Given the description of an element on the screen output the (x, y) to click on. 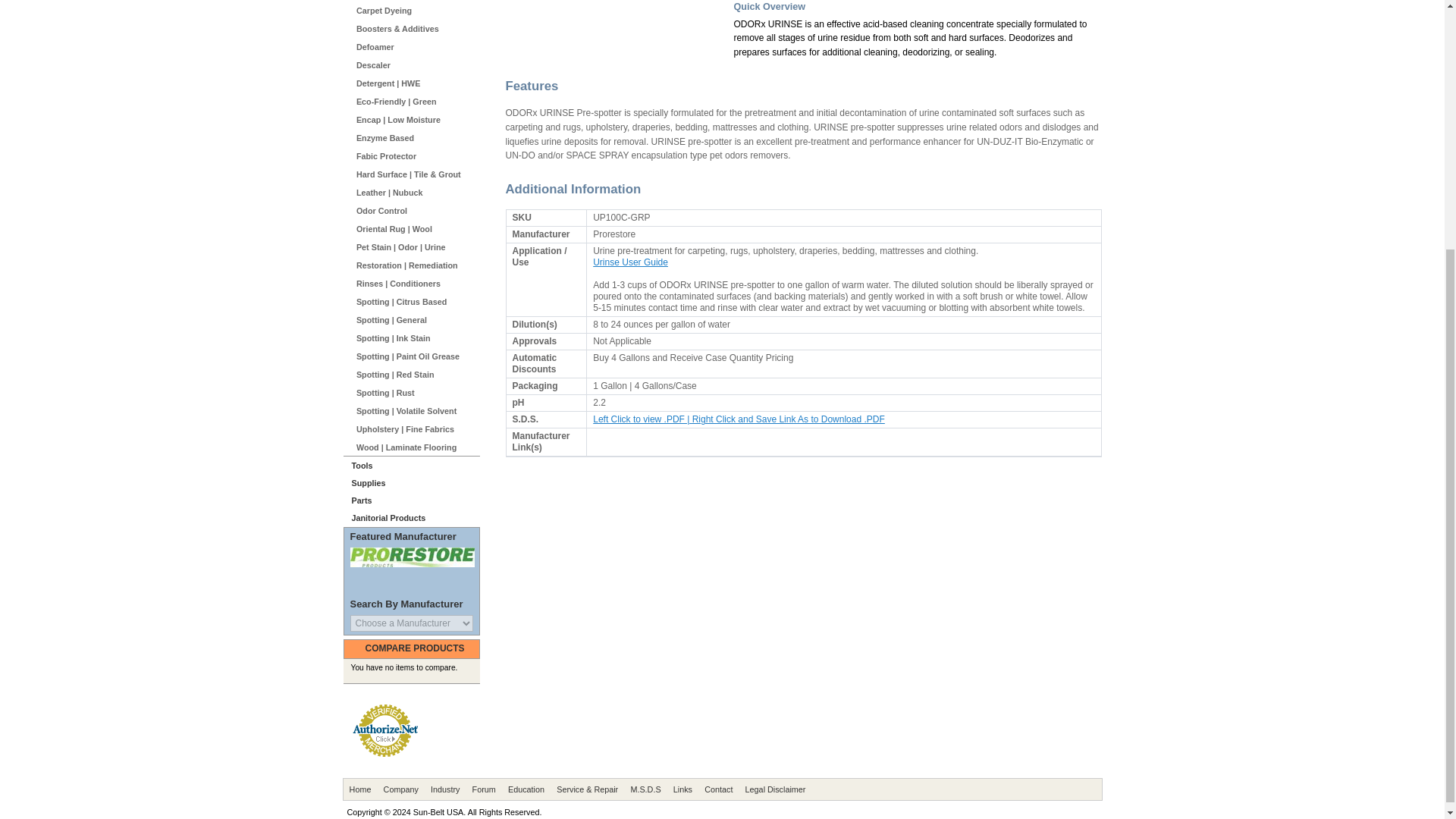
Descaler (418, 65)
Prorestore Professional Products (412, 557)
Enzyme Based (418, 138)
Fabic Protector (418, 156)
Carpet Dyeing (418, 11)
Urinse User Guide (630, 262)
Prorestore Professional Products (412, 563)
Defoamer (418, 47)
